Given the description of an element on the screen output the (x, y) to click on. 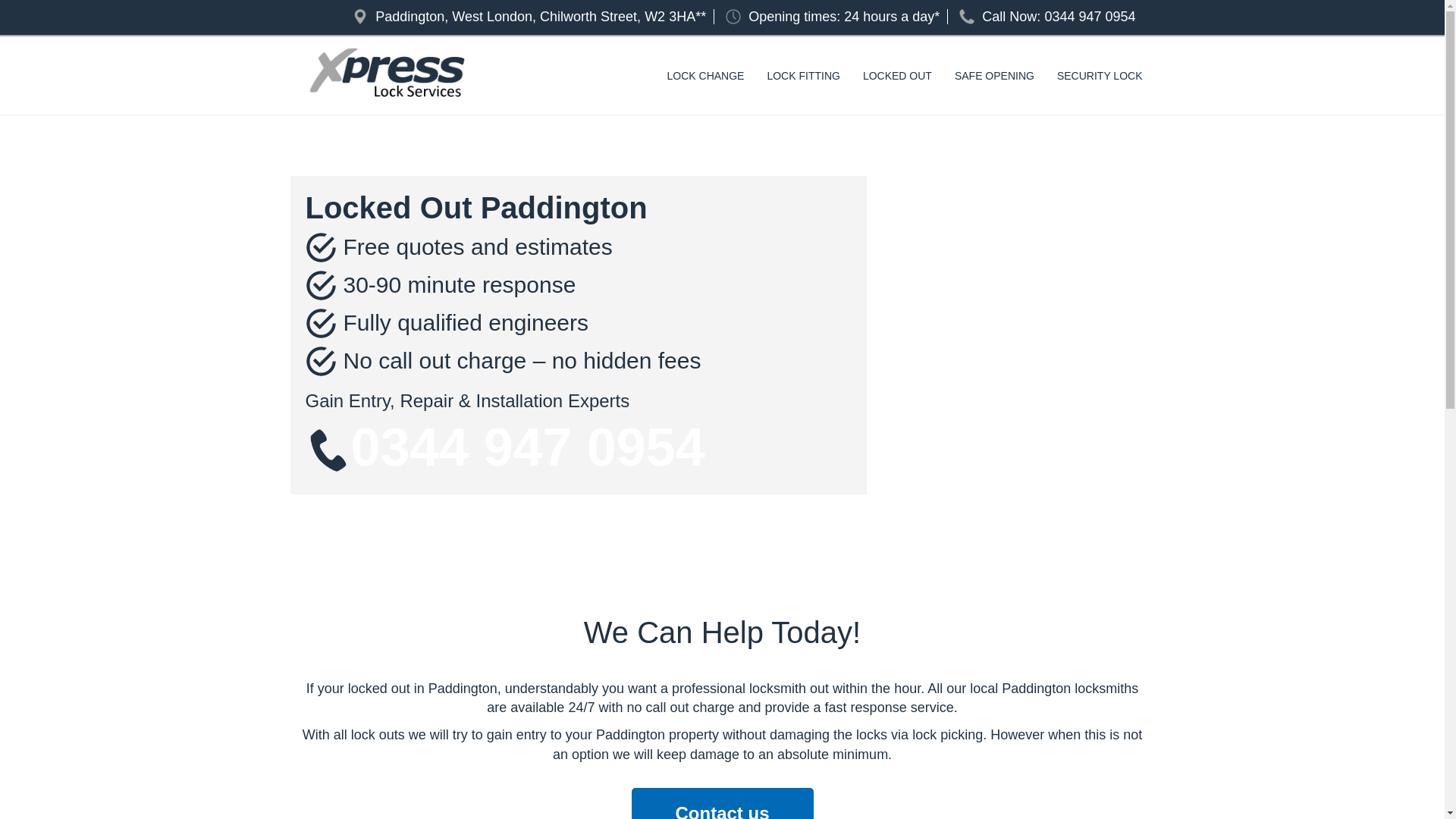
SAFE OPENING (994, 75)
Locked Out (897, 75)
Safe Opening (994, 75)
LOCK FITTING (802, 75)
0344 947 0954 (1089, 16)
LOCKED OUT (897, 75)
Contact us (721, 813)
Security Lock (1099, 75)
SECURITY LOCK (1099, 75)
Lock Change (705, 75)
LOCK CHANGE (705, 75)
0344 947 0954 (527, 446)
Lock Fitting (802, 75)
